Given the description of an element on the screen output the (x, y) to click on. 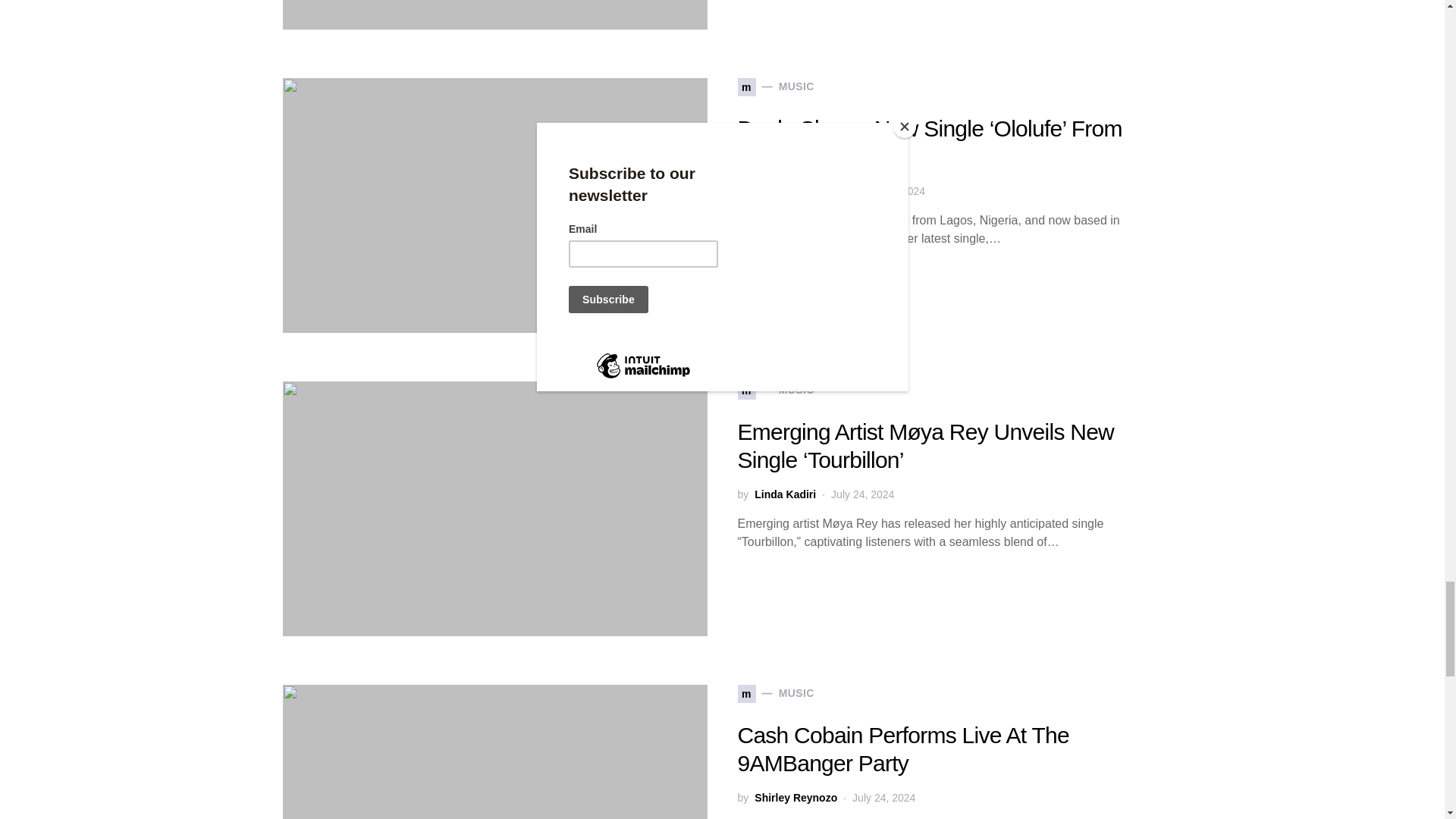
View all posts by Linda Kadiri (784, 494)
View all posts by Justine Amenuvor (800, 191)
View all posts by Shirley Reynozo (795, 797)
